Given the description of an element on the screen output the (x, y) to click on. 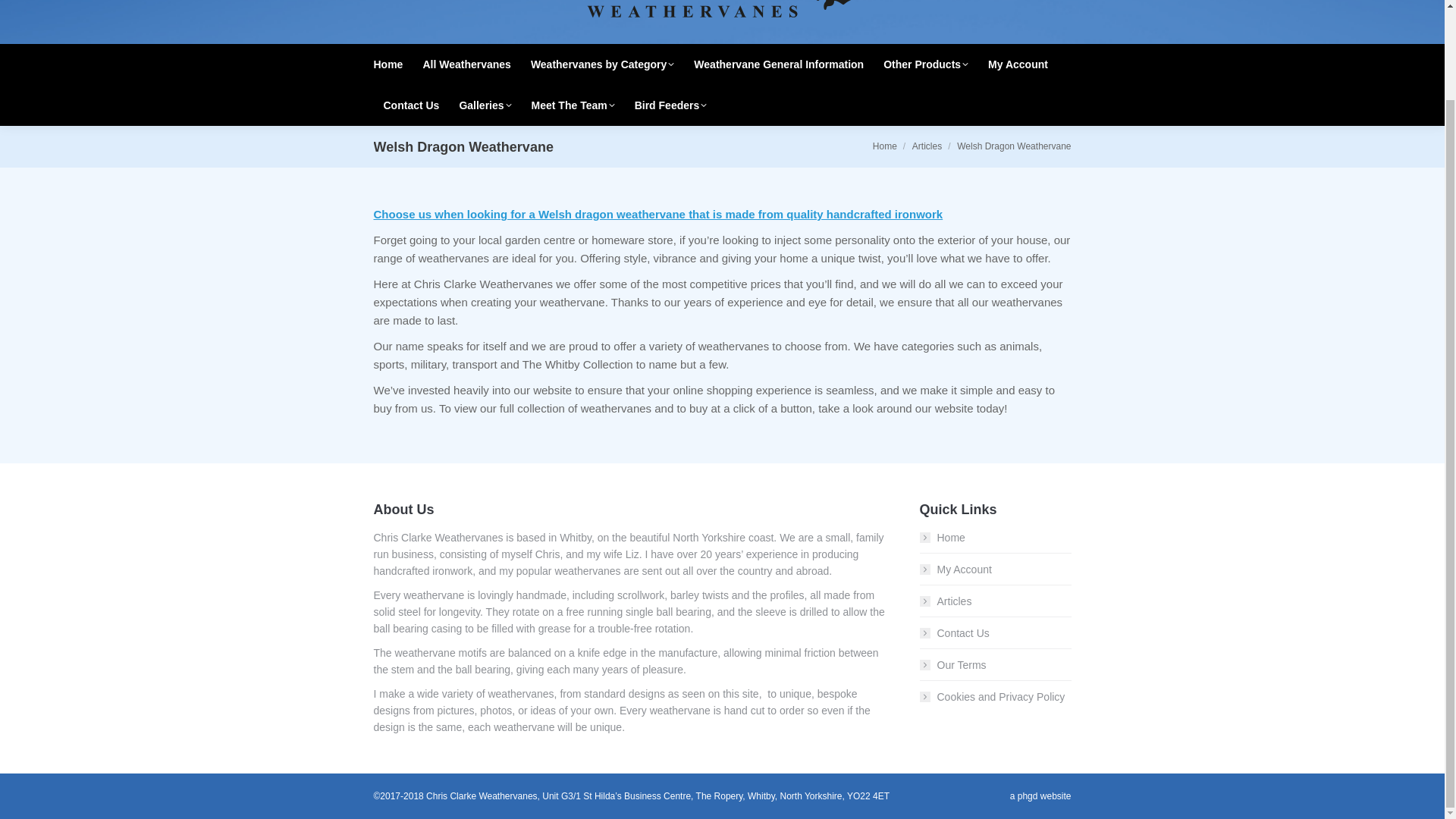
Articles (927, 145)
All Weathervanes (466, 64)
Weathervanes by Category (602, 64)
Home (884, 145)
